Given the description of an element on the screen output the (x, y) to click on. 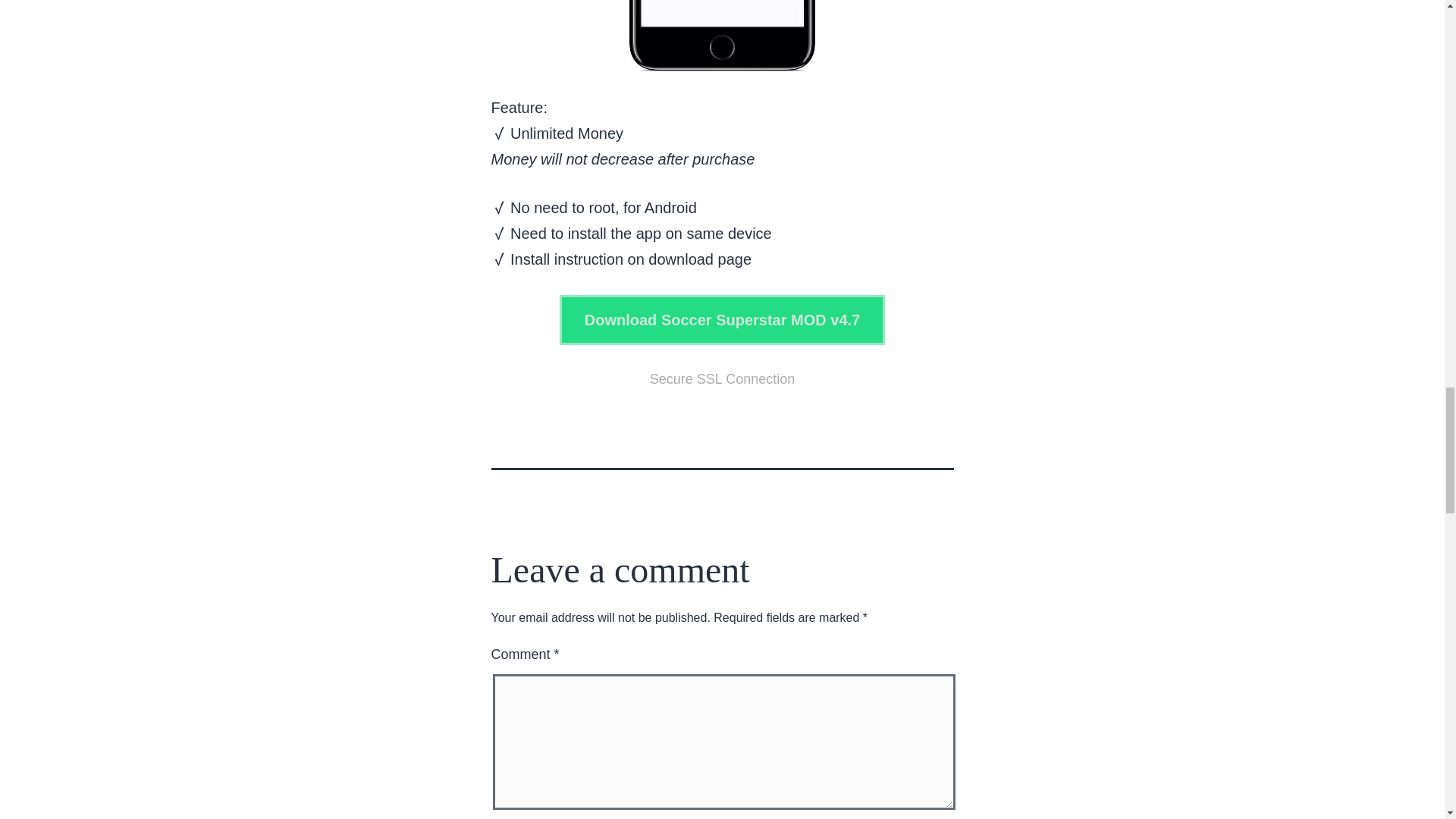
Download Soccer Superstar MOD v4.7 (722, 319)
Download Soccer Superstar MOD v4.7 (722, 320)
